Given the description of an element on the screen output the (x, y) to click on. 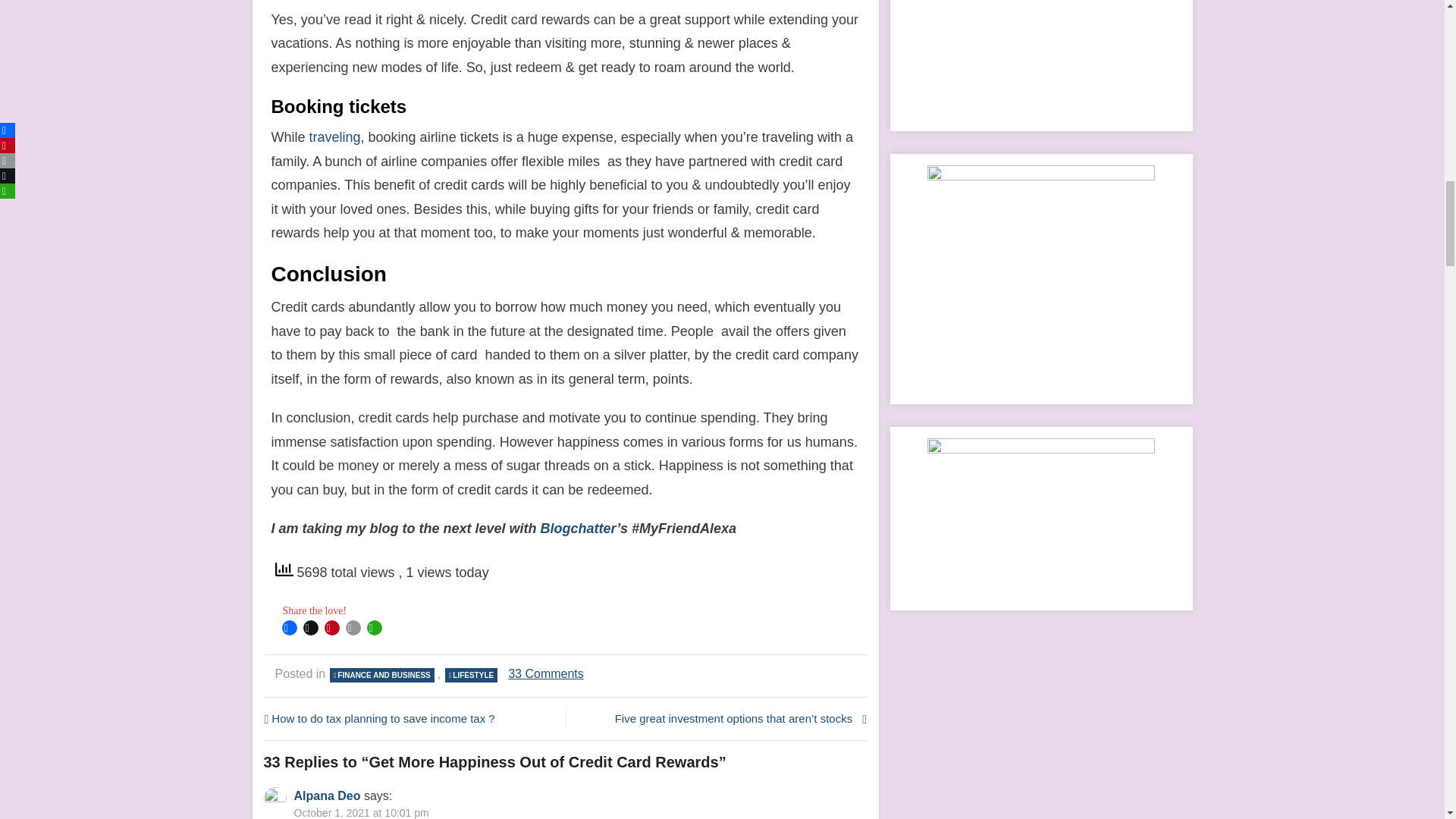
Pinterest (331, 627)
WhatsApp (374, 627)
Facebook (289, 627)
Email This (353, 627)
